Given the description of an element on the screen output the (x, y) to click on. 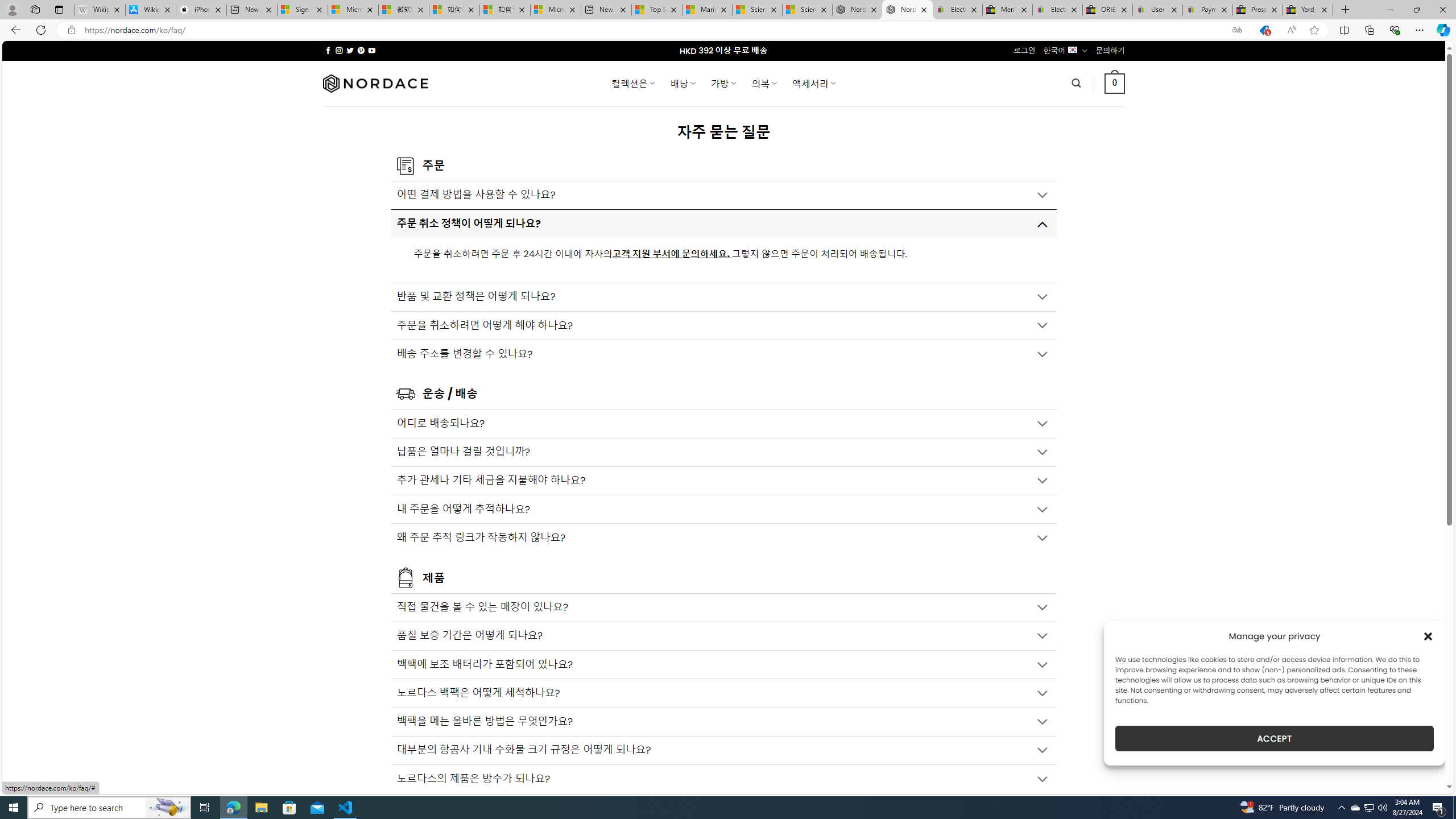
Follow on Instagram (338, 50)
ACCEPT (1274, 738)
 0  (1115, 83)
Class: cmplz-close (1428, 636)
